Given the description of an element on the screen output the (x, y) to click on. 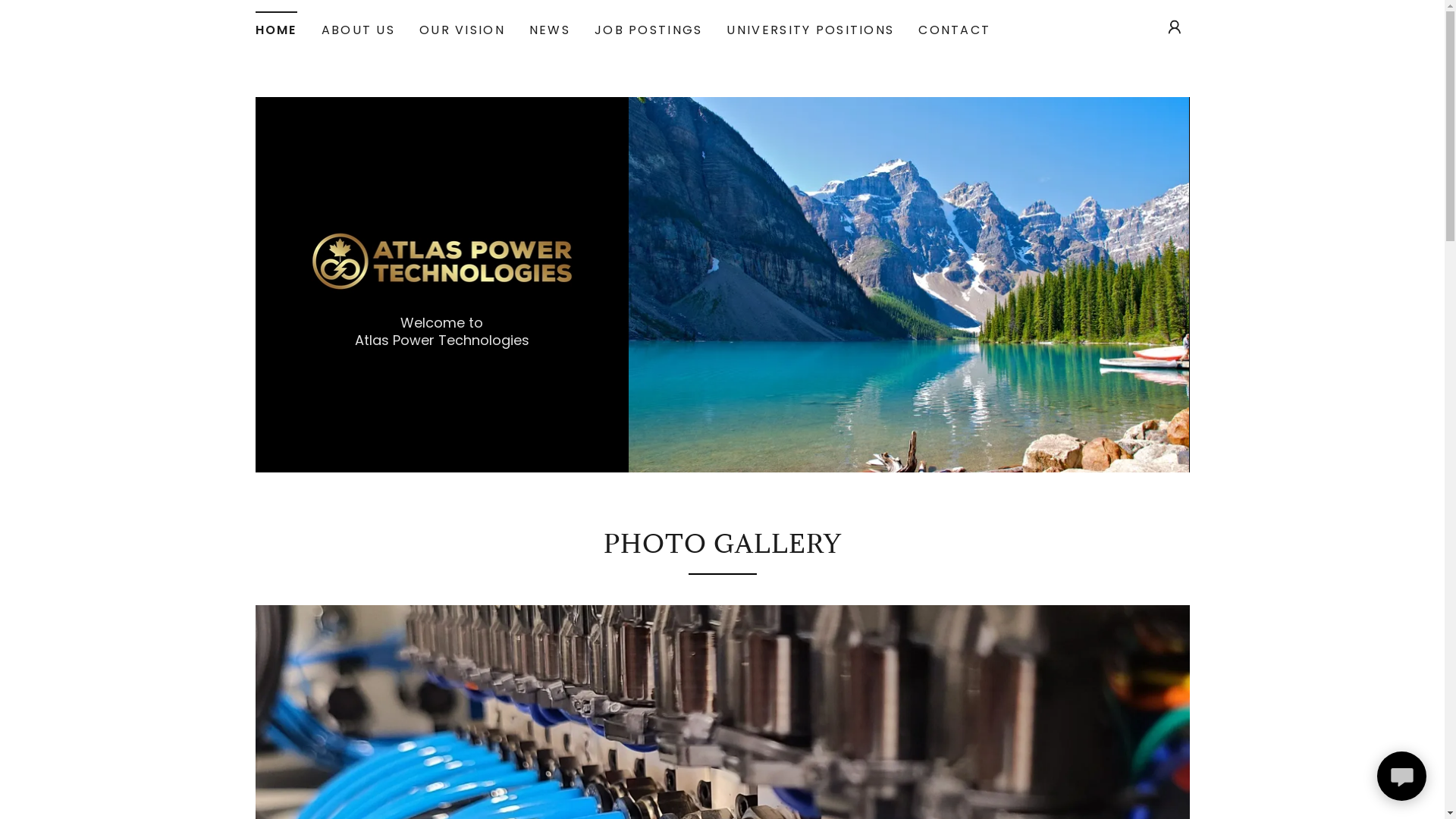
UNIVERSITY POSITIONS Element type: text (809, 29)
Atlas Power Generation Element type: hover (442, 260)
JOB POSTINGS Element type: text (647, 29)
HOME Element type: text (275, 25)
NEWS Element type: text (549, 29)
CONTACT Element type: text (953, 29)
OUR VISION Element type: text (461, 29)
ABOUT US Element type: text (357, 29)
